Given the description of an element on the screen output the (x, y) to click on. 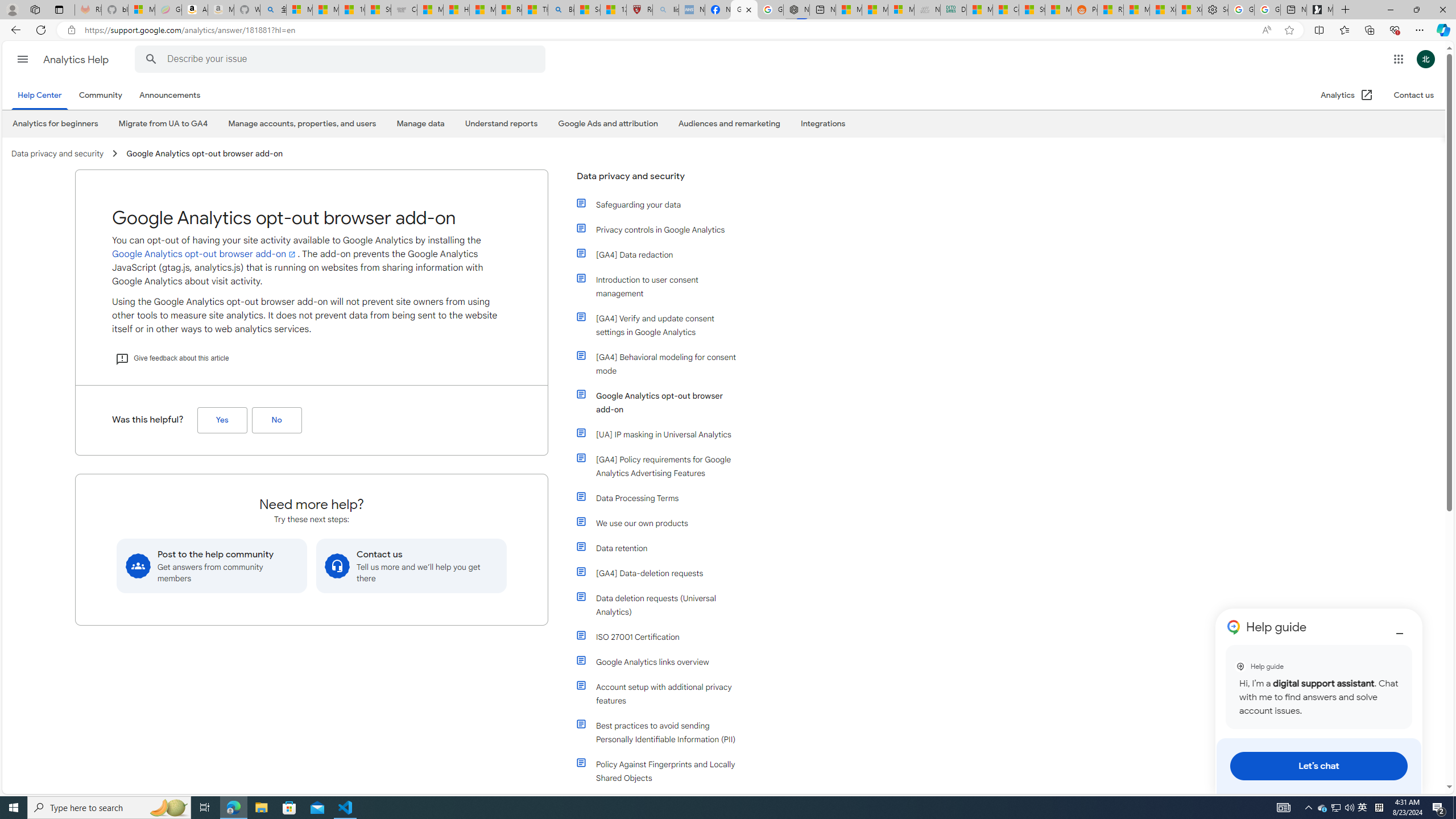
Policy Against Fingerprints and Locally Shared Objects (658, 770)
Help Center (39, 95)
Data Processing Terms (664, 498)
Audiences and remarketing (729, 123)
Google Ads and attribution (607, 123)
Understand reports (501, 123)
Data Processing Terms (658, 498)
[GA4] Behavioral modeling for consent mode (658, 363)
MSN (1057, 9)
Manage data (419, 123)
